Given the description of an element on the screen output the (x, y) to click on. 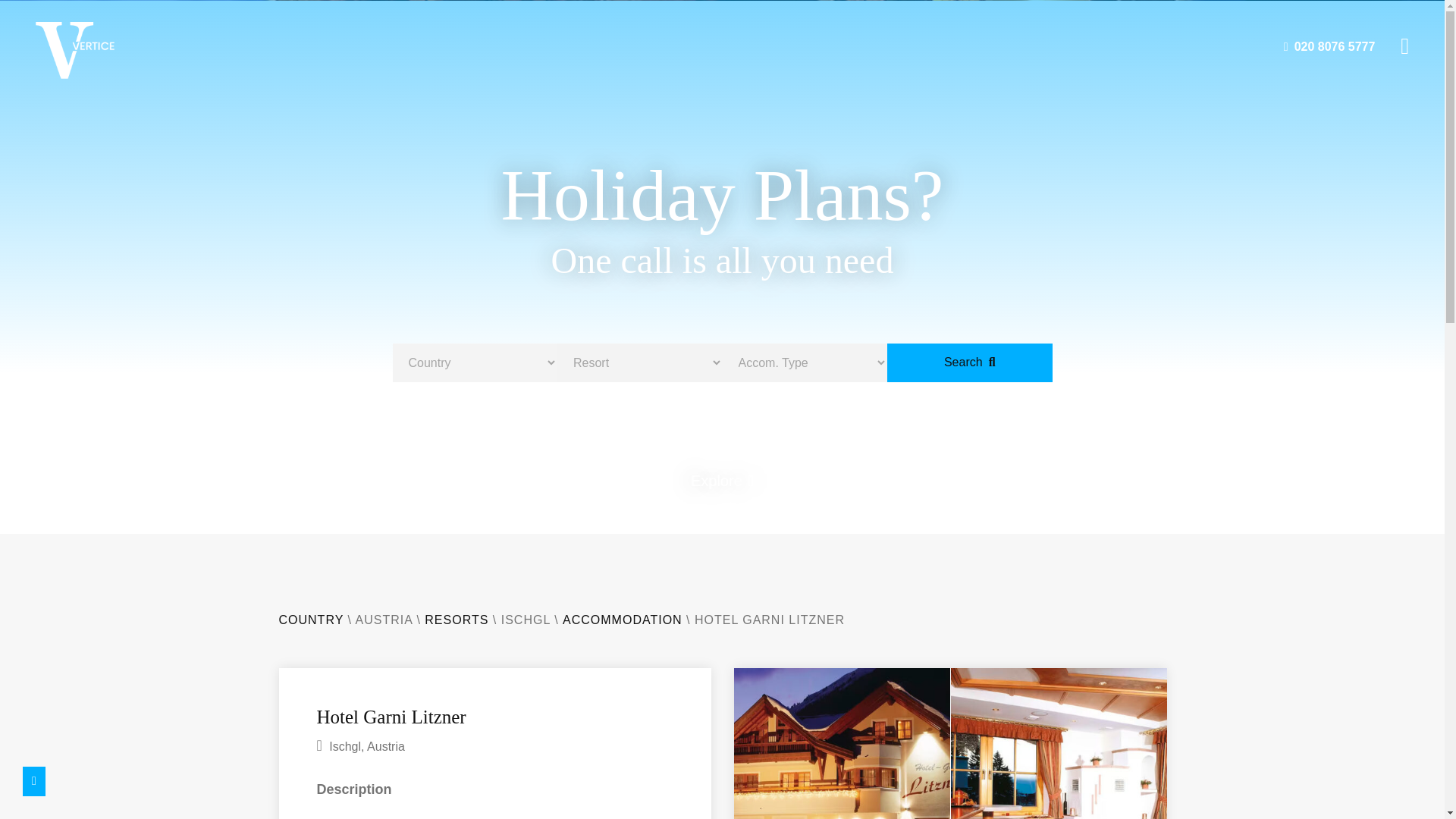
020 8076 5777 (1329, 46)
AUSTRIA (383, 619)
Ischgl (345, 746)
Explore (722, 480)
Search (969, 362)
ISCHGL (525, 619)
Austria (385, 746)
Explore (722, 480)
